Given the description of an element on the screen output the (x, y) to click on. 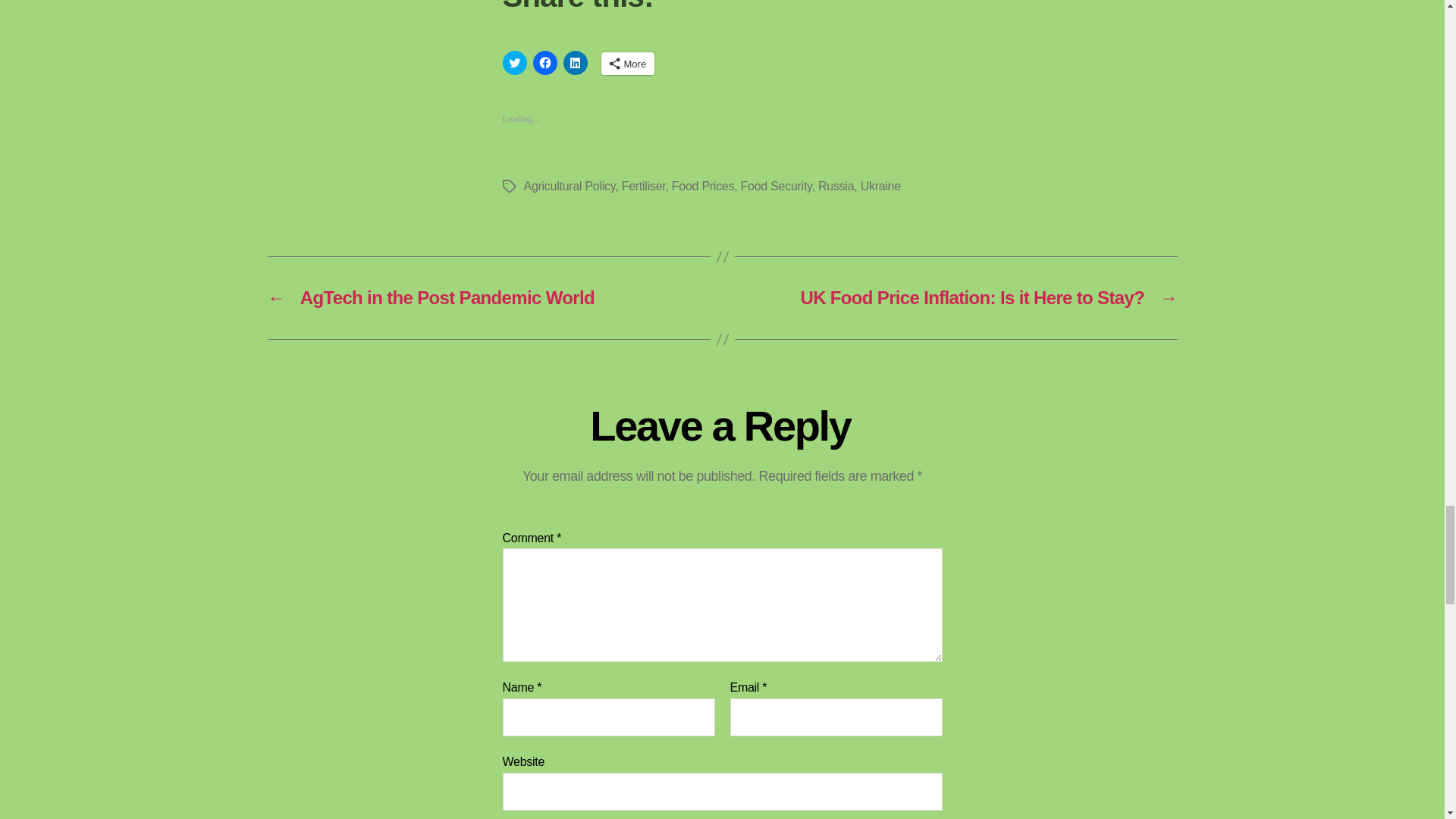
Click to share on Facebook (544, 62)
Click to share on LinkedIn (574, 62)
Click to share on Twitter (513, 62)
